Given the description of an element on the screen output the (x, y) to click on. 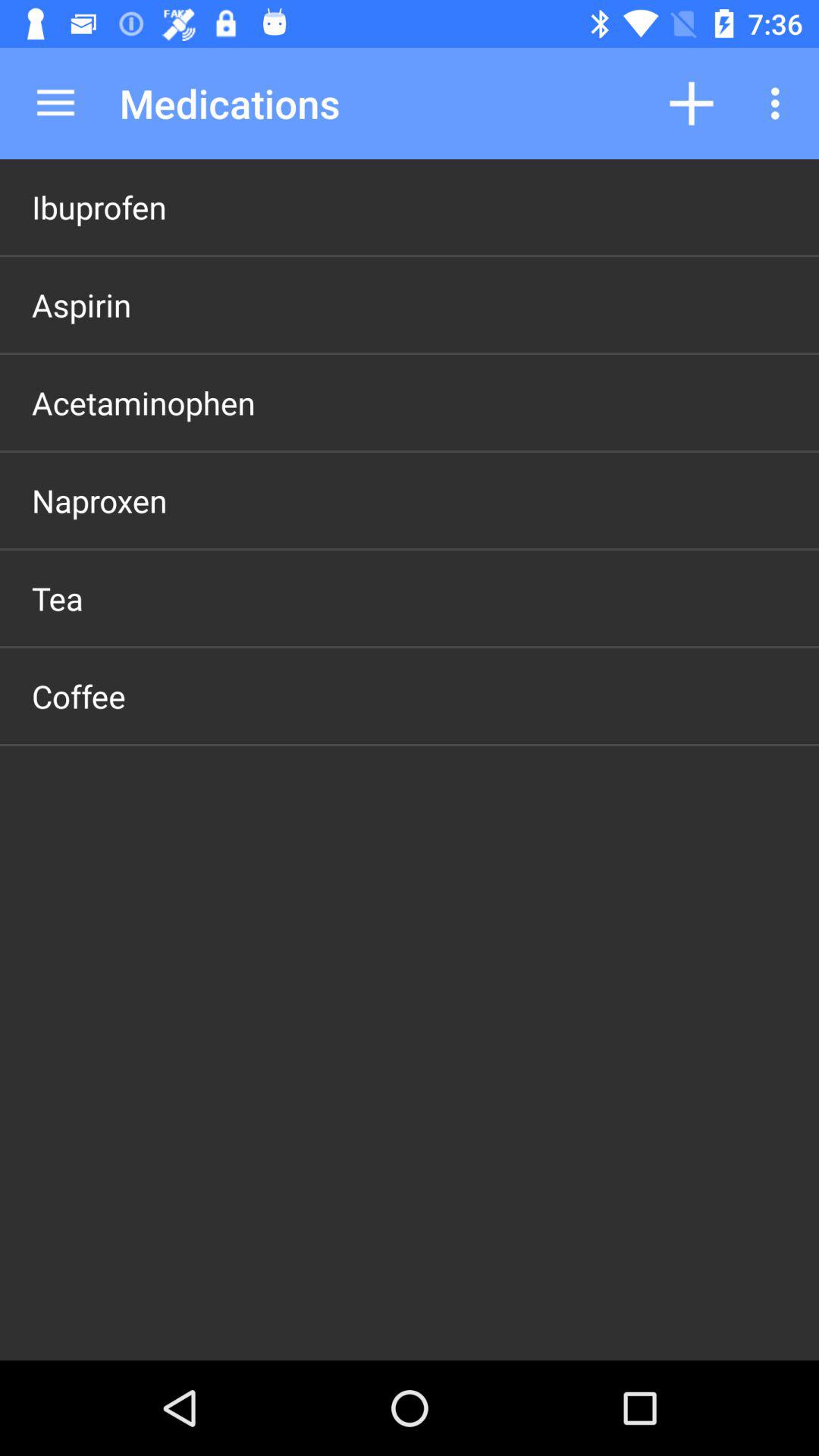
select the tea (57, 598)
